Given the description of an element on the screen output the (x, y) to click on. 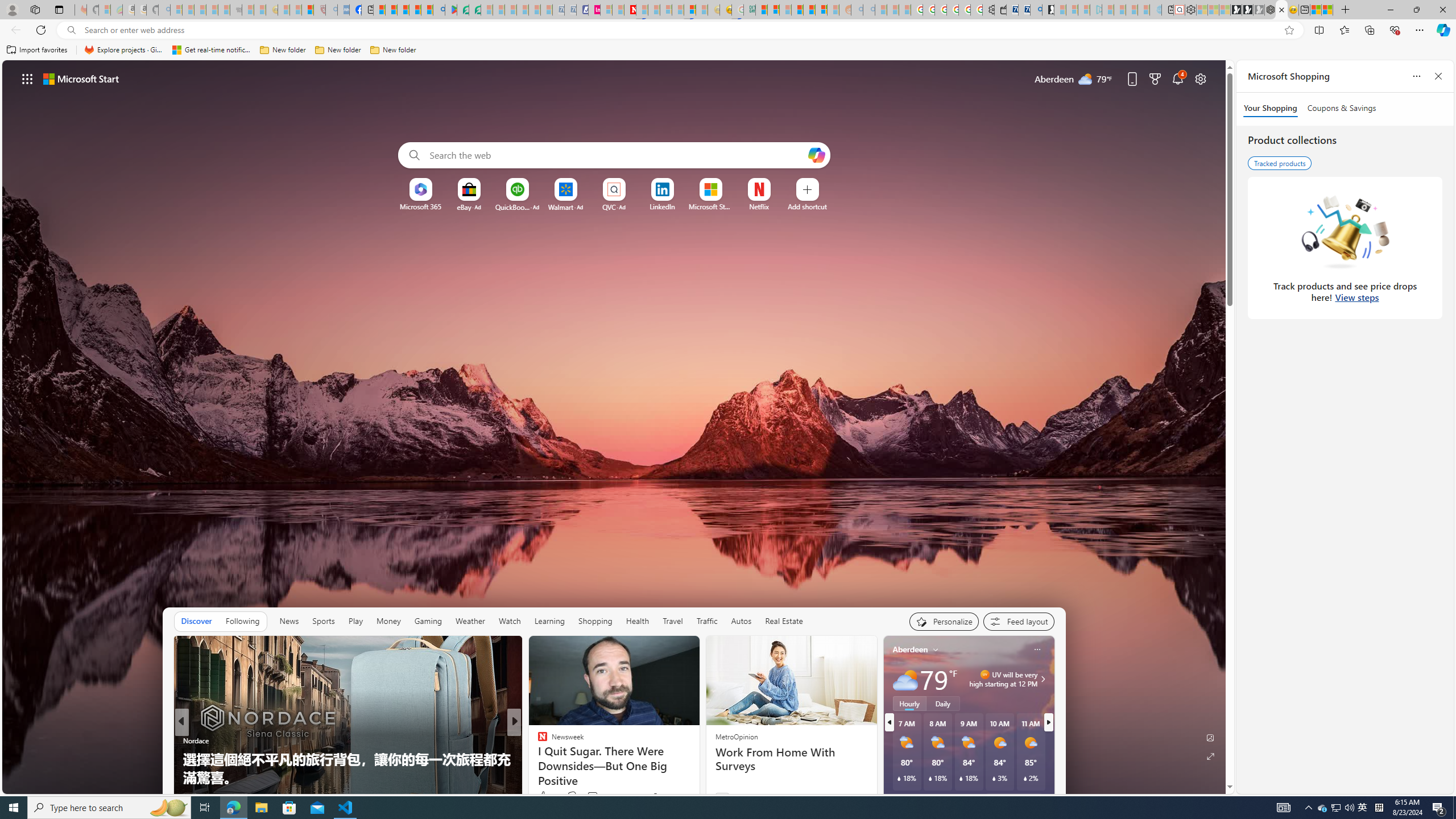
Feed settings (1018, 621)
See full forecast (1013, 799)
Dagens News (US) (537, 758)
How To Disable OneDrive On Windows (697, 777)
Epic Reactions (537, 758)
The Best Time to Go to Bed According to Your Age (697, 777)
Mostly cloudy (904, 678)
Learning (549, 621)
34 Like (543, 796)
